Given the description of an element on the screen output the (x, y) to click on. 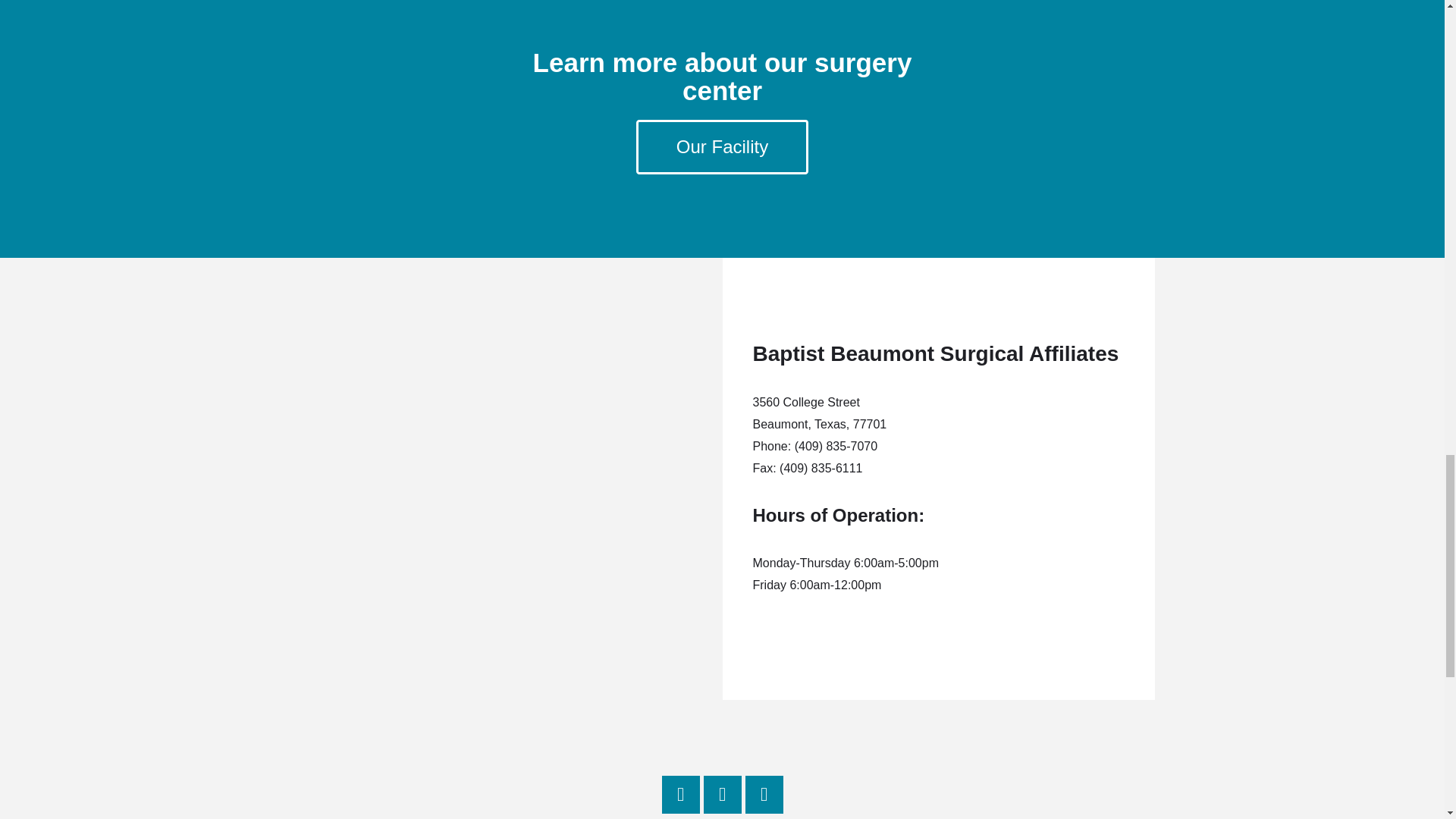
Our Facility (722, 146)
